Given the description of an element on the screen output the (x, y) to click on. 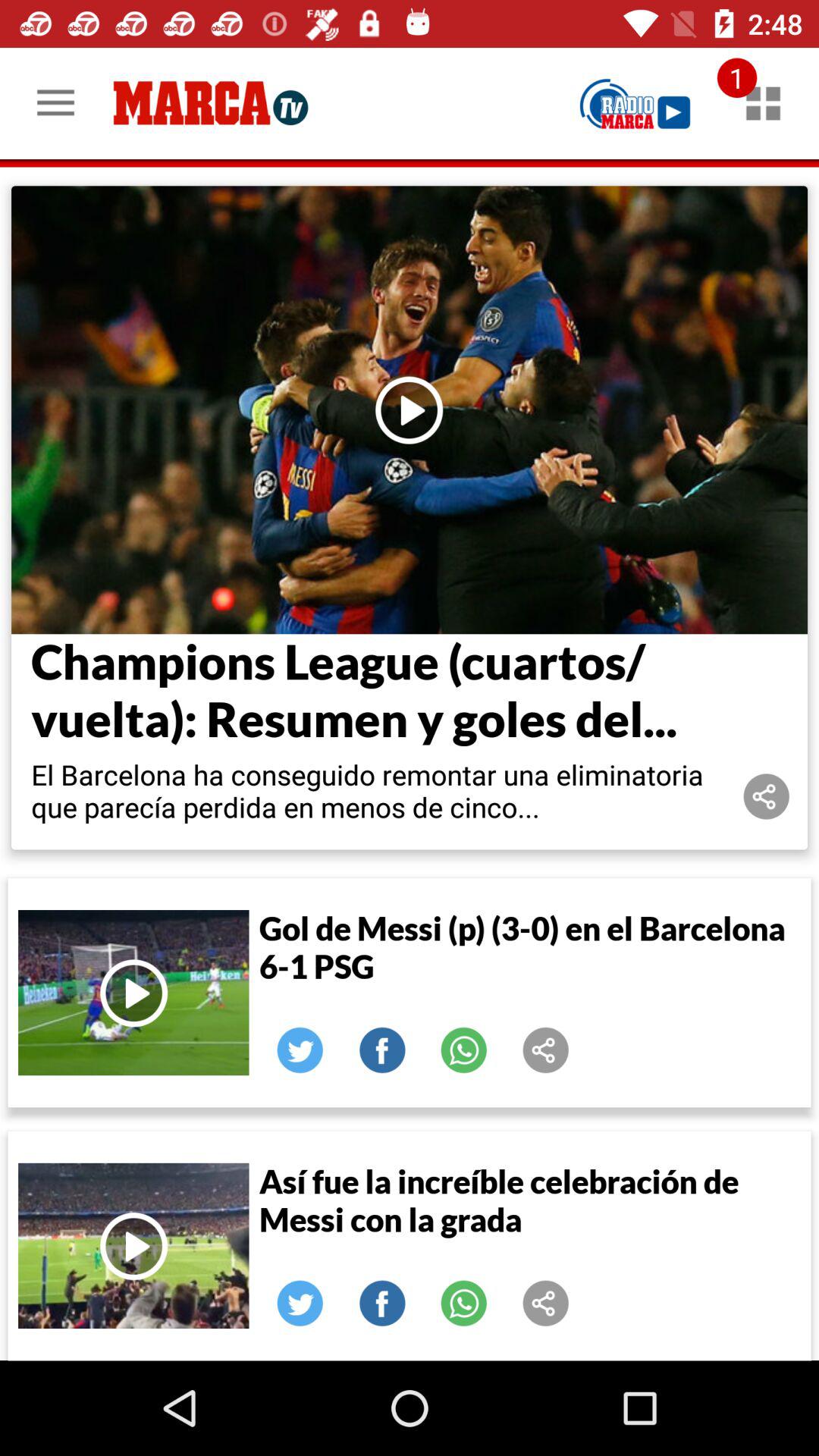
share on facebook (382, 1303)
